Given the description of an element on the screen output the (x, y) to click on. 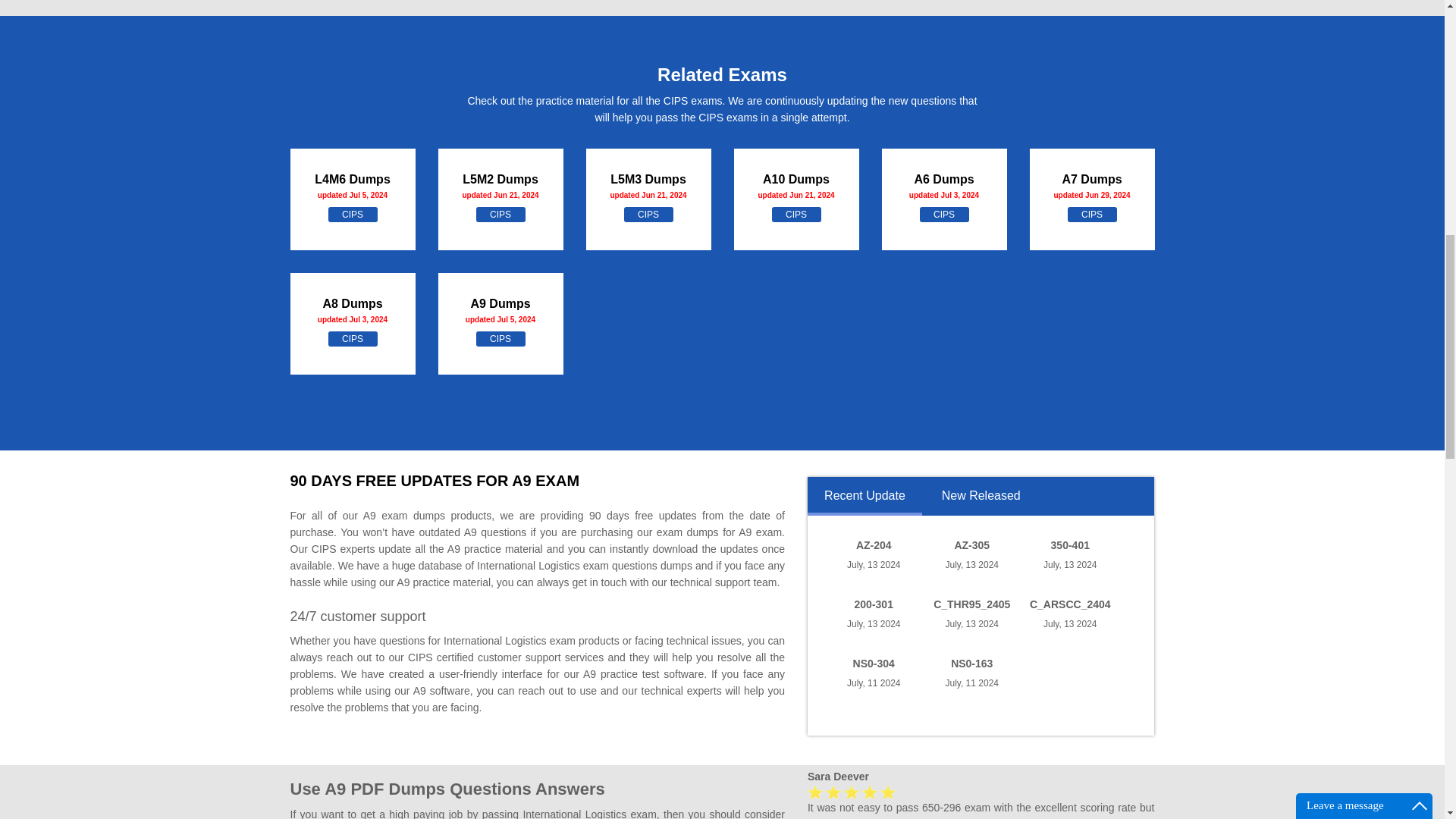
CIPS (647, 214)
CIPS (1091, 214)
AZ-204 (873, 544)
New Released (980, 502)
CIPS (500, 214)
Recent Update (864, 502)
CIPS (352, 338)
CIPS (796, 214)
CIPS (500, 338)
CIPS (352, 214)
CIPS (943, 214)
